Given the description of an element on the screen output the (x, y) to click on. 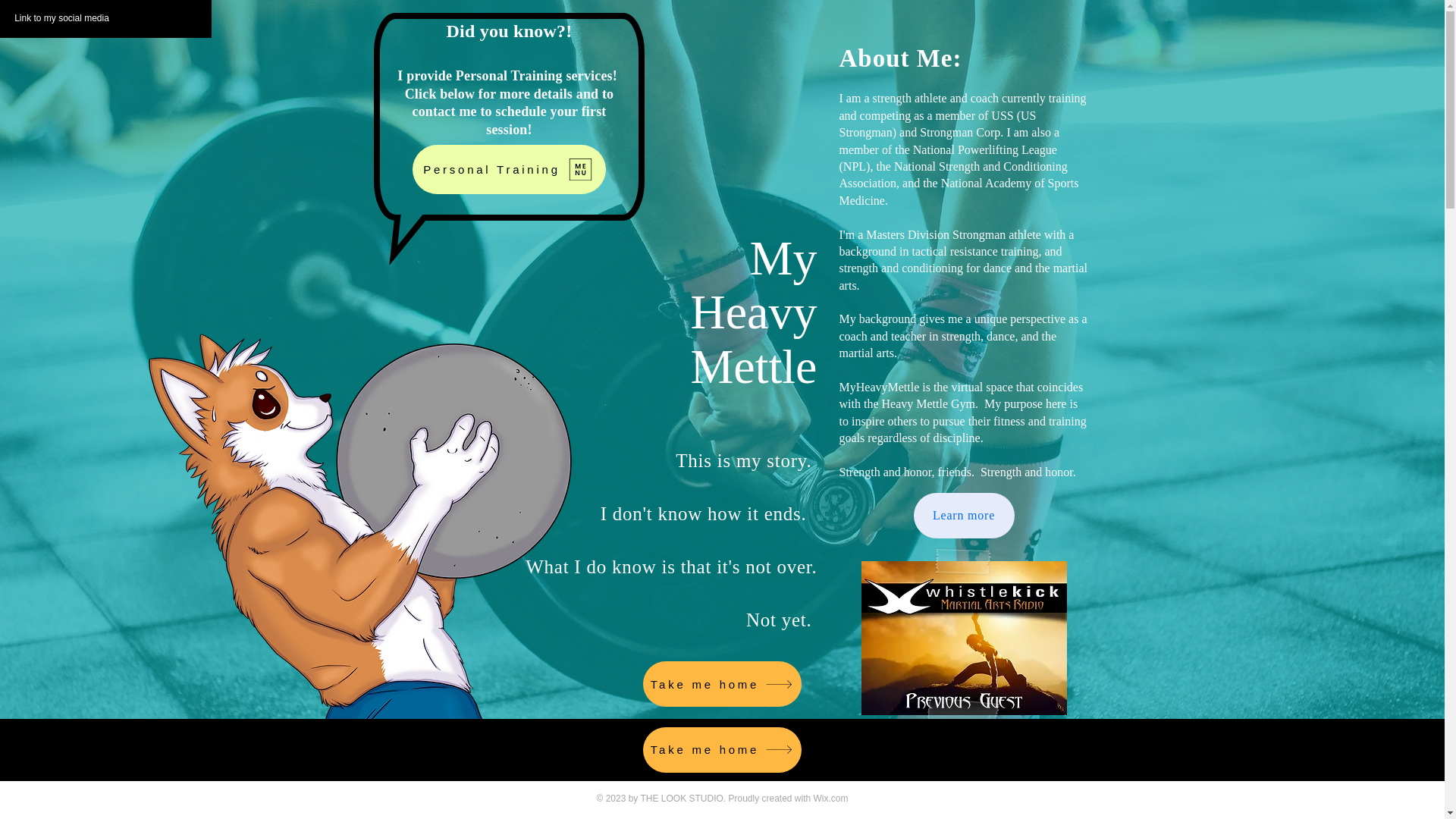
Take me home (722, 750)
Take me home (722, 683)
All Posts (387, 759)
Personal Training (508, 169)
Link to my social media (61, 18)
Wix.com (830, 798)
Learn more (962, 515)
